Given the description of an element on the screen output the (x, y) to click on. 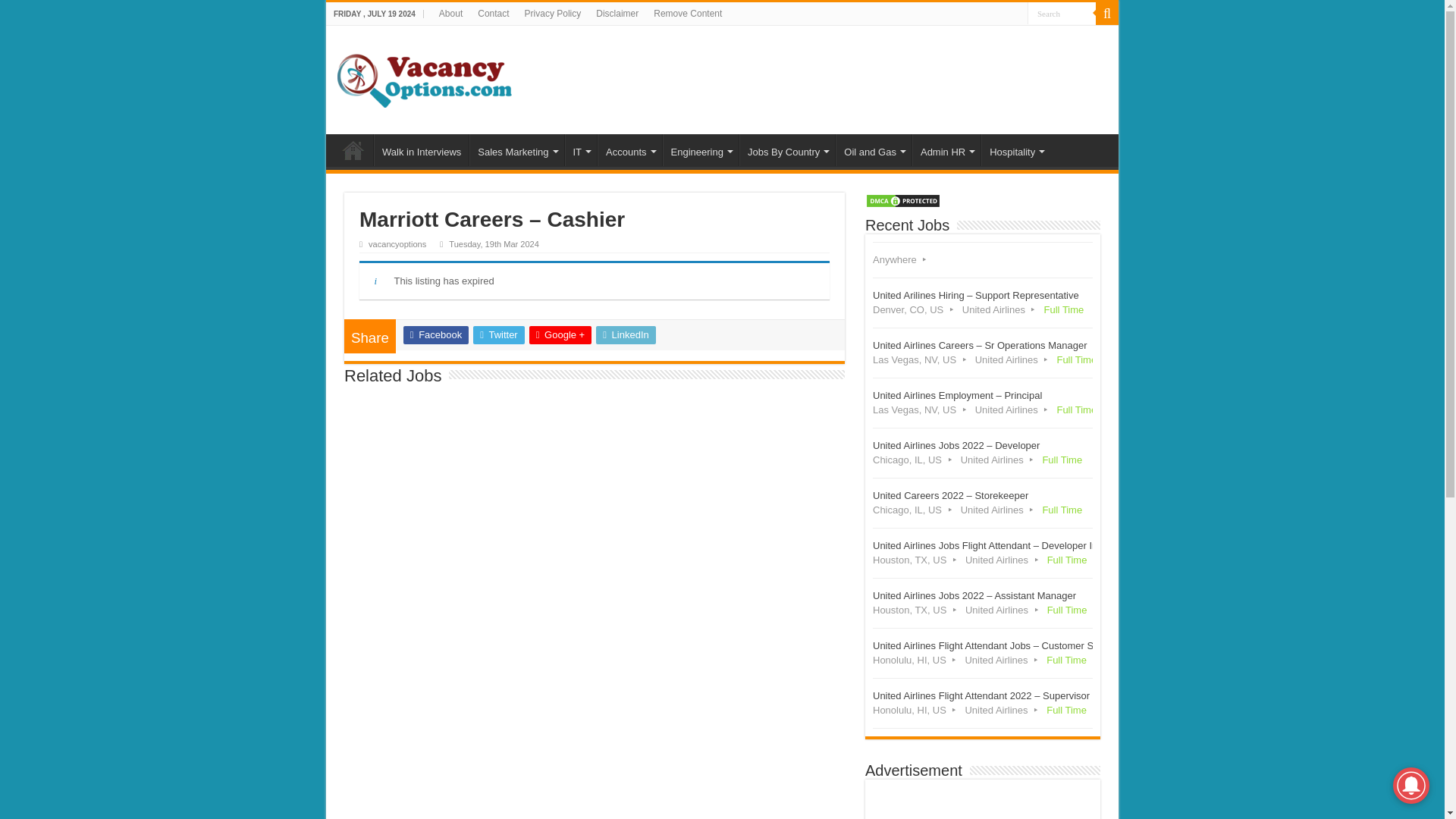
Content Protection by DMCA.com (902, 199)
Advertisement (982, 803)
Search (1061, 13)
Search (1061, 13)
Latest Job Vacancies in the USA, UK and Worldwide (424, 76)
Search (1061, 13)
